Given the description of an element on the screen output the (x, y) to click on. 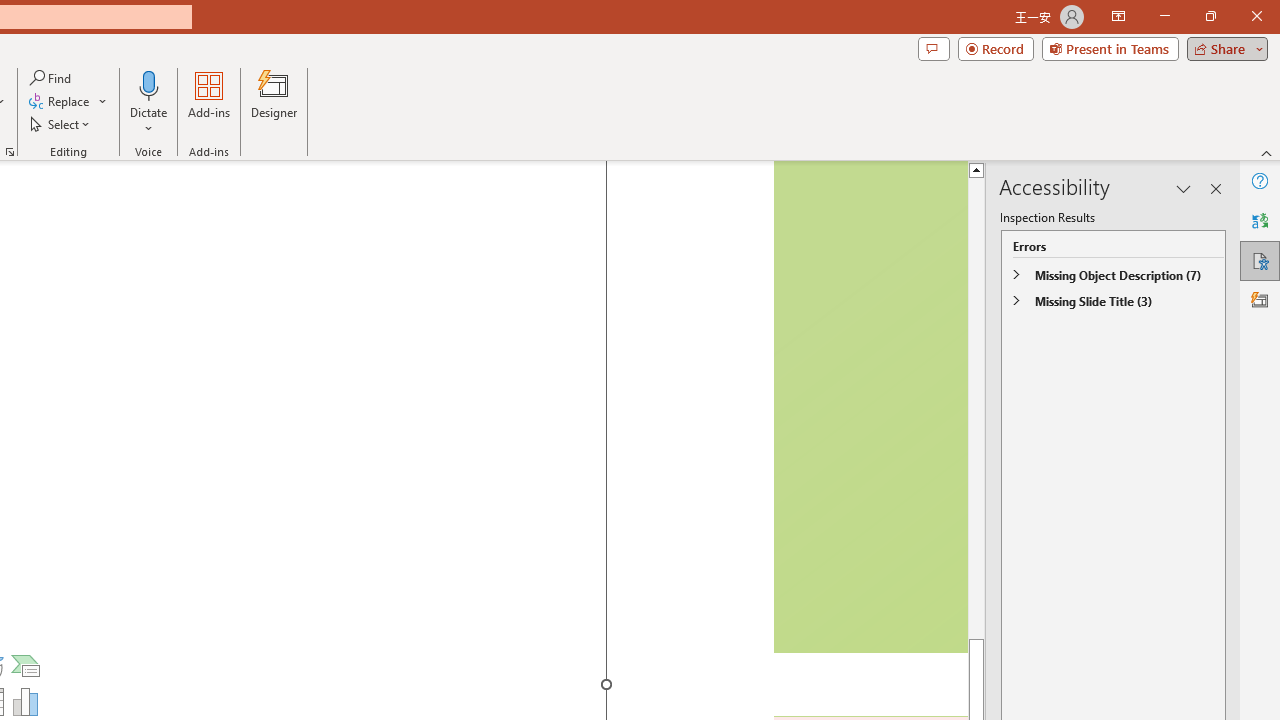
Insert Chart (26, 701)
